Given the description of an element on the screen output the (x, y) to click on. 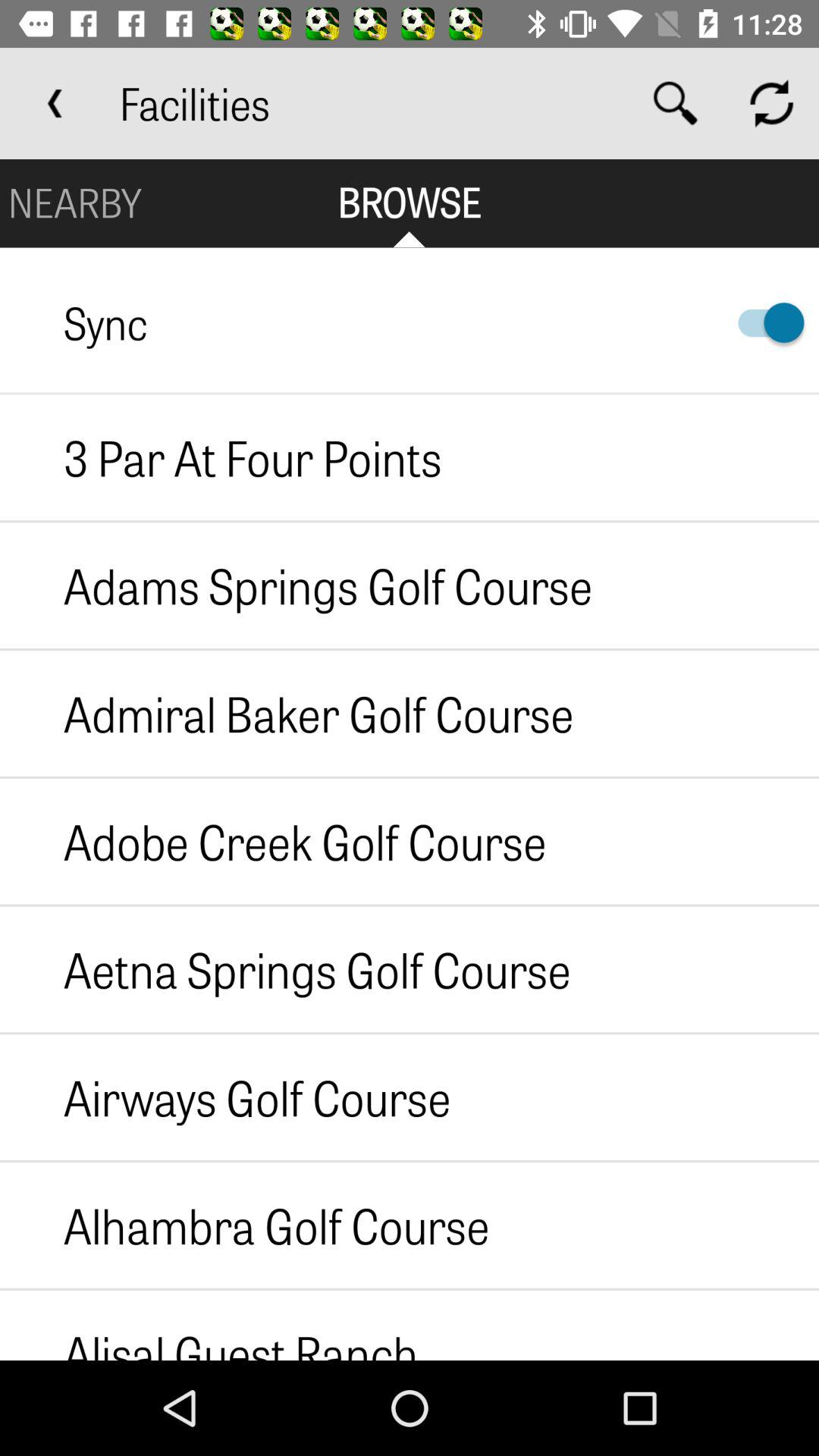
select the icon below admiral baker golf (273, 841)
